Given the description of an element on the screen output the (x, y) to click on. 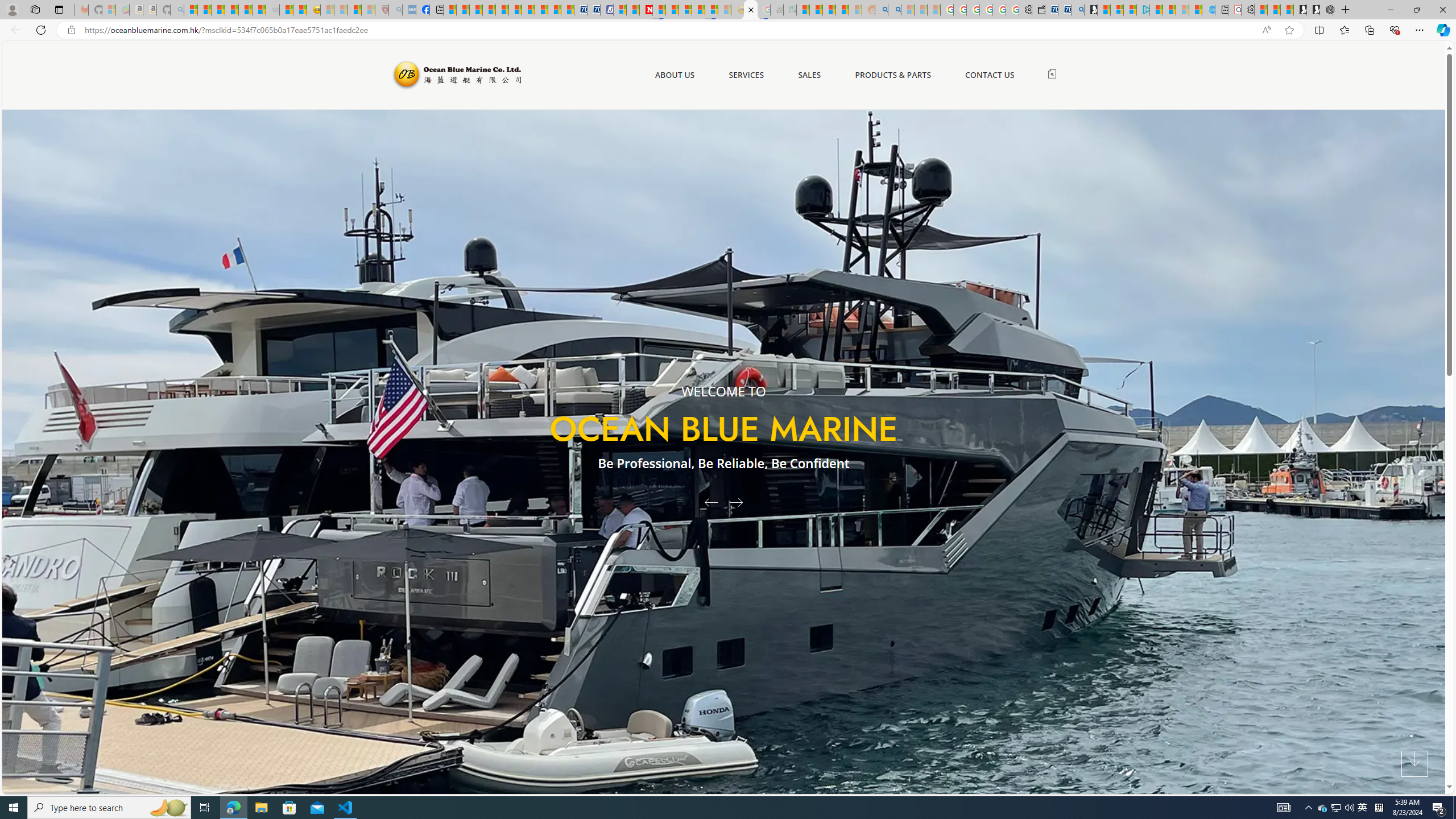
Cheap Car Rentals - Save70.com (1063, 9)
Ocean Blue Marine (455, 74)
Next Section (1414, 764)
